Given the description of an element on the screen output the (x, y) to click on. 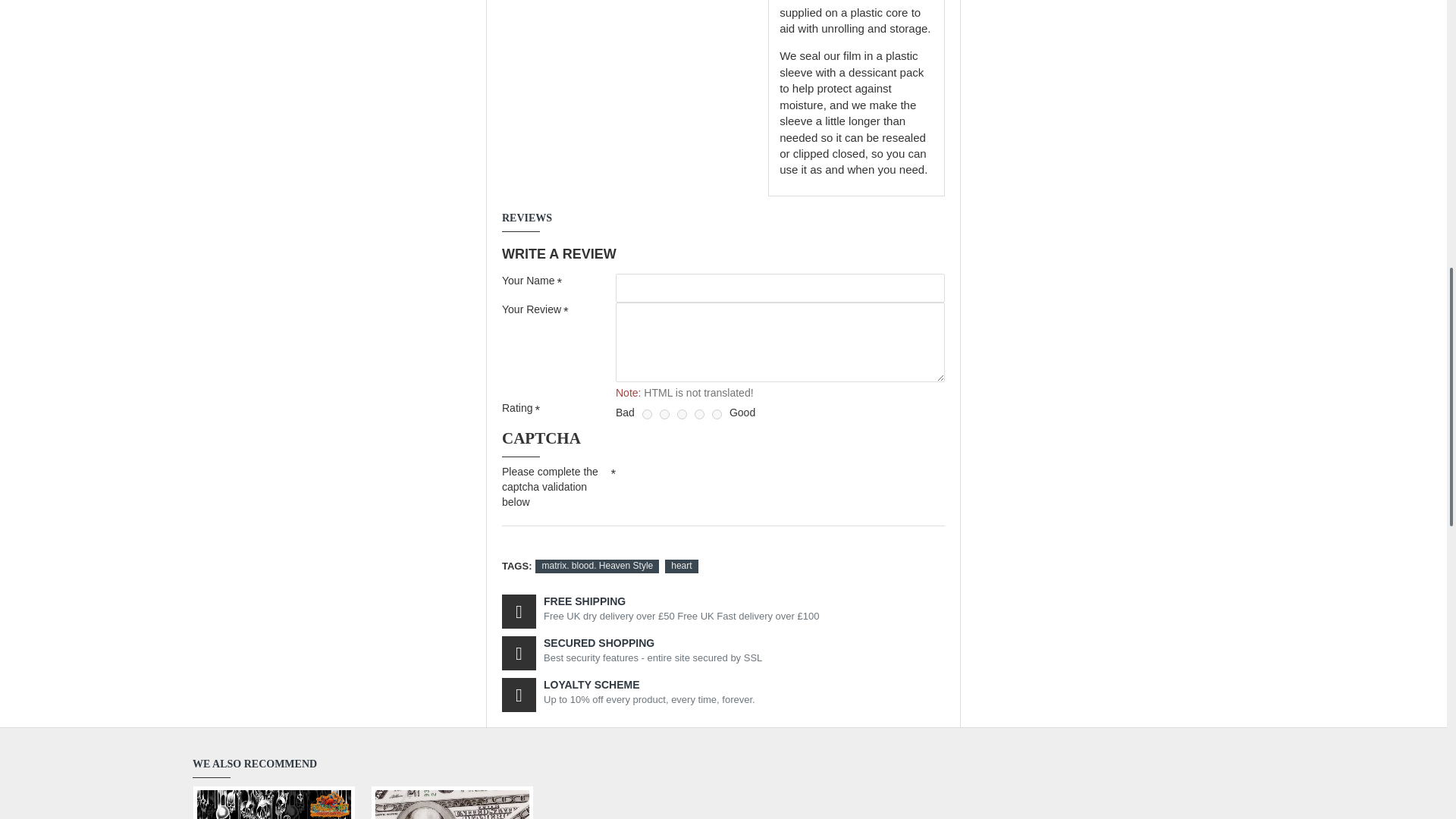
4 (699, 414)
2 (664, 414)
3 (682, 414)
1 (647, 414)
5 (716, 414)
